Given the description of an element on the screen output the (x, y) to click on. 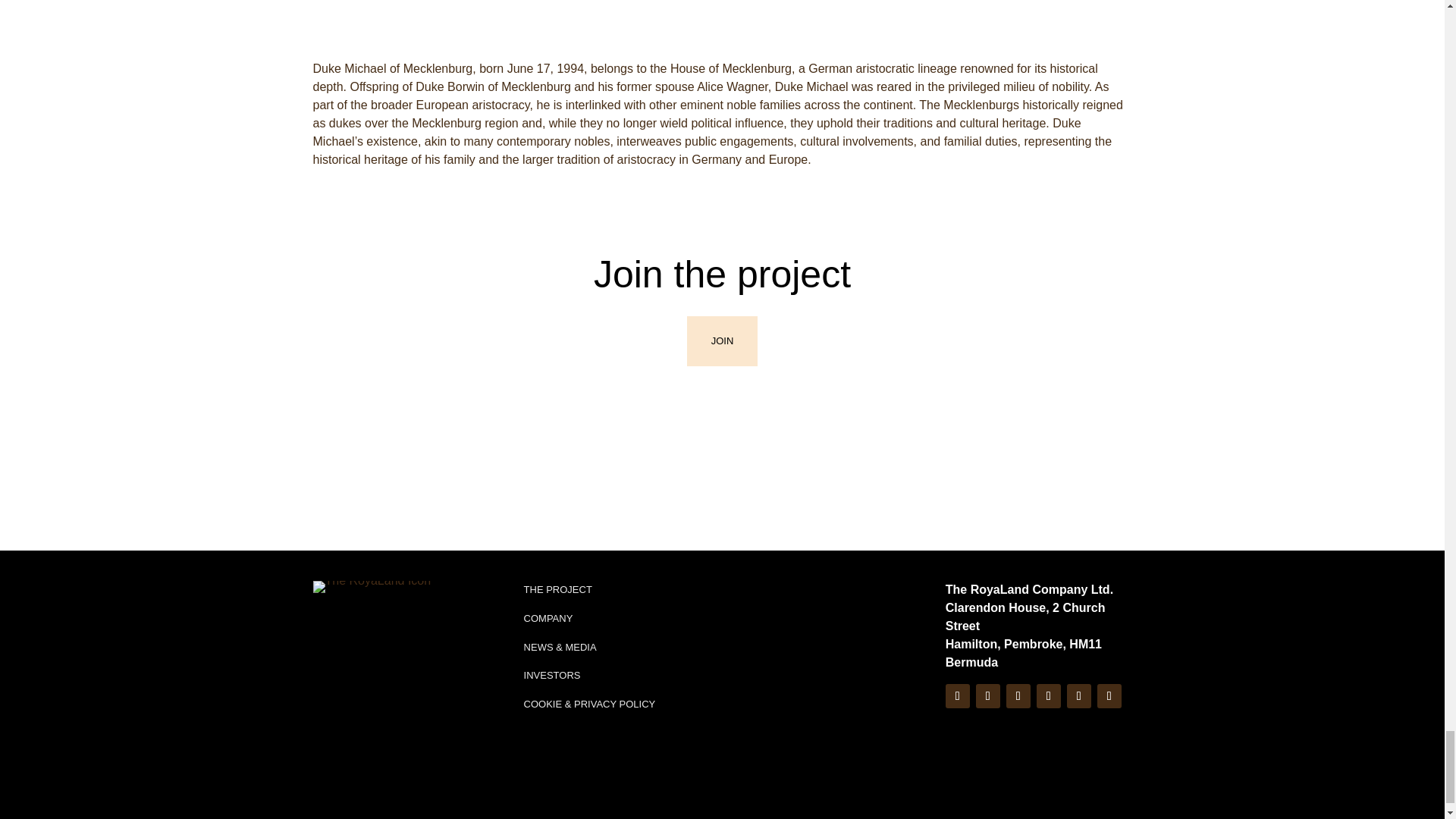
COMPANY (548, 618)
Icona RoyaLand (371, 586)
JOIN (722, 341)
THE PROJECT (558, 589)
Herzog-Michael (721, 18)
INVESTORS (552, 674)
